Given the description of an element on the screen output the (x, y) to click on. 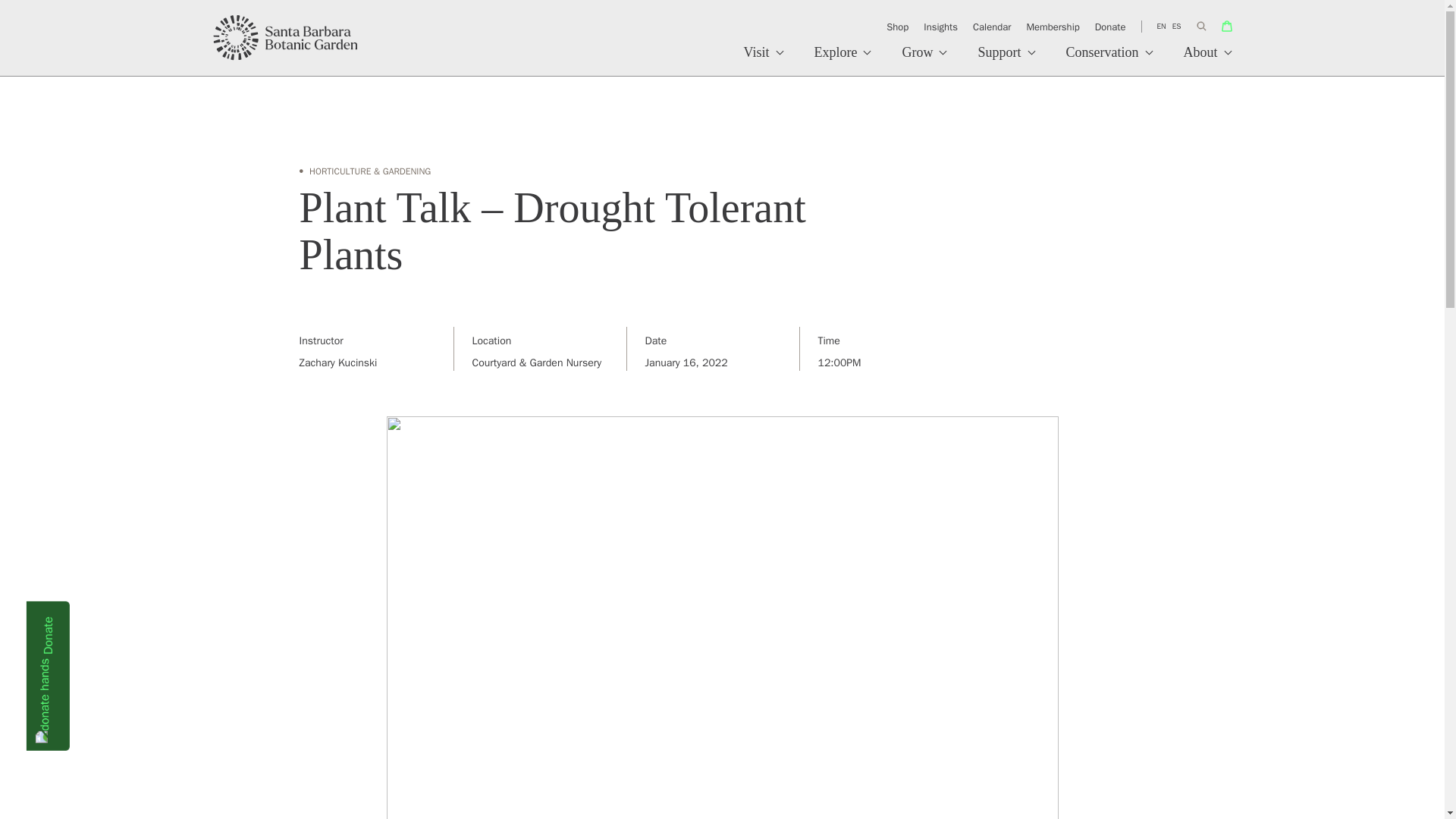
Explore (842, 61)
Calendar (991, 26)
Santa Barbara Botanic Garden (285, 37)
shop (1226, 25)
Support (1005, 61)
Conservation (1110, 61)
Donate (1110, 26)
Visit (764, 61)
Membership (1052, 26)
donate (101, 622)
Donate (101, 622)
Shop (897, 26)
Insights (940, 26)
Grow (924, 61)
